Given the description of an element on the screen output the (x, y) to click on. 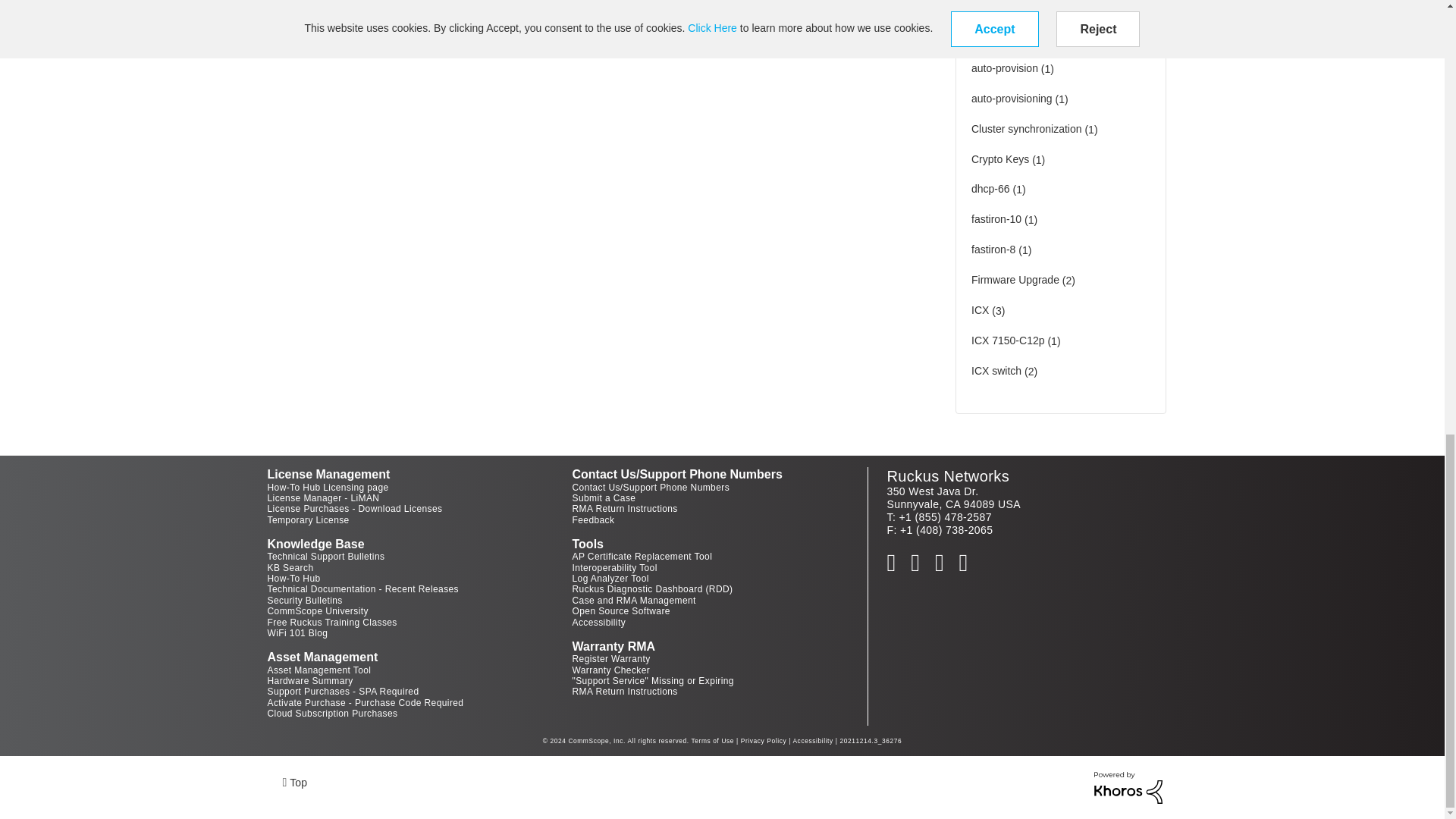
Top (293, 781)
Top (293, 781)
